Given the description of an element on the screen output the (x, y) to click on. 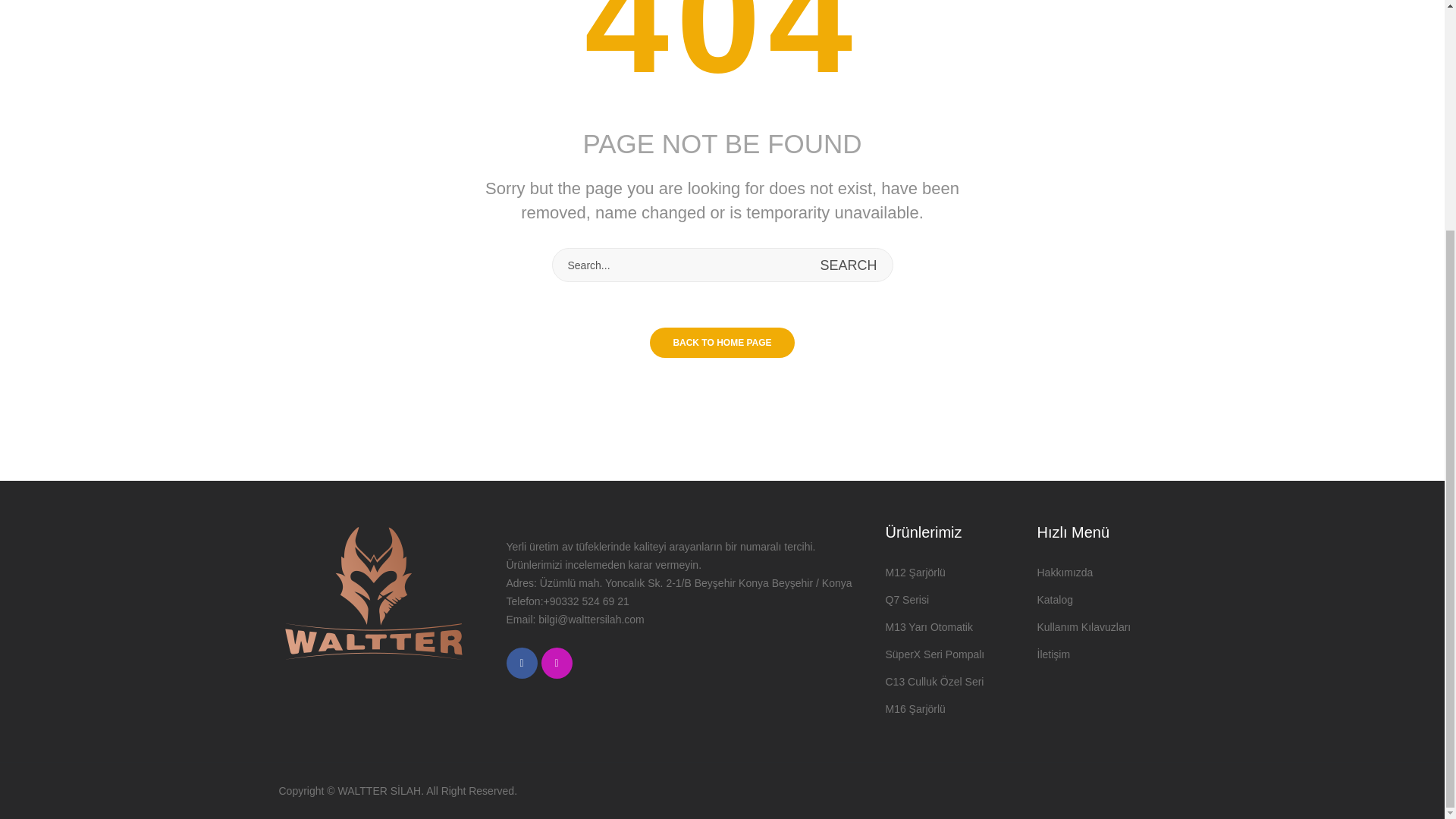
instagram (556, 662)
facebook (521, 662)
SEARCH (848, 264)
Search... (721, 264)
